Given the description of an element on the screen output the (x, y) to click on. 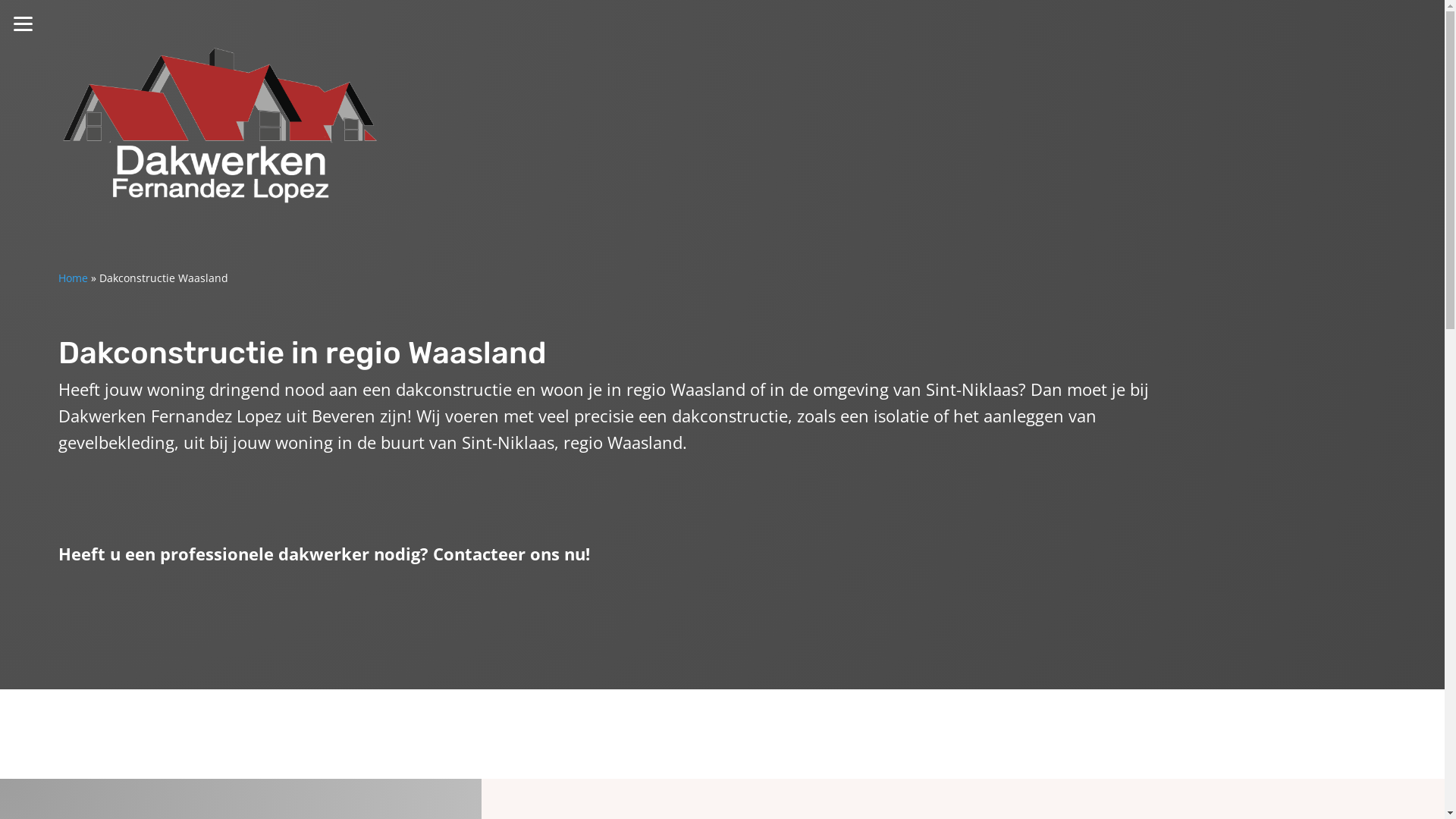
logo-ivan-wit Element type: hover (220, 124)
Home Element type: text (72, 277)
